Given the description of an element on the screen output the (x, y) to click on. 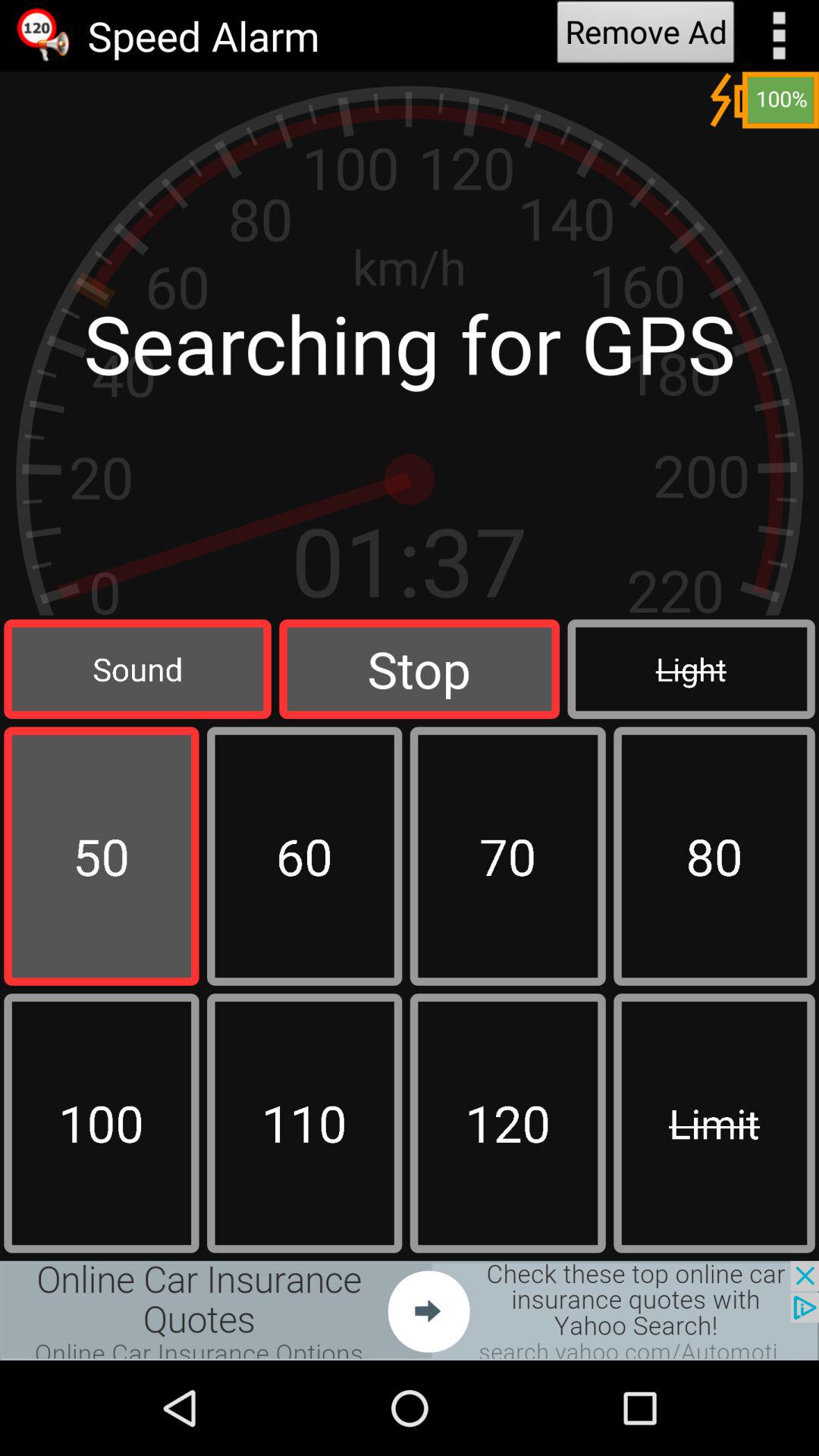
click on sound (137, 669)
click on 70 (508, 855)
click on box which have 60 number in it (304, 855)
click on box which have 110 number in it (304, 1122)
click on the button which is next to 110 (508, 1122)
select the icon which is left side of the speed alarm (43, 35)
